Given the description of an element on the screen output the (x, y) to click on. 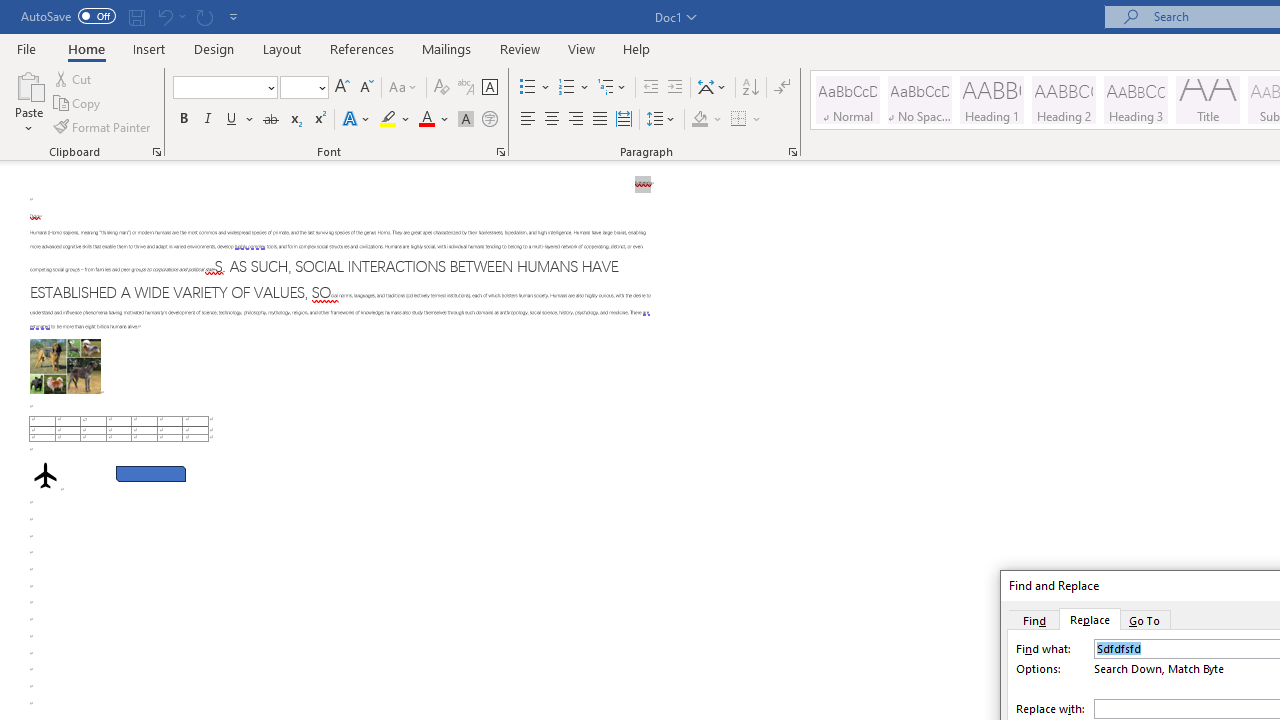
Font Color Red (426, 119)
Undo Paragraph Alignment (170, 15)
